Given the description of an element on the screen output the (x, y) to click on. 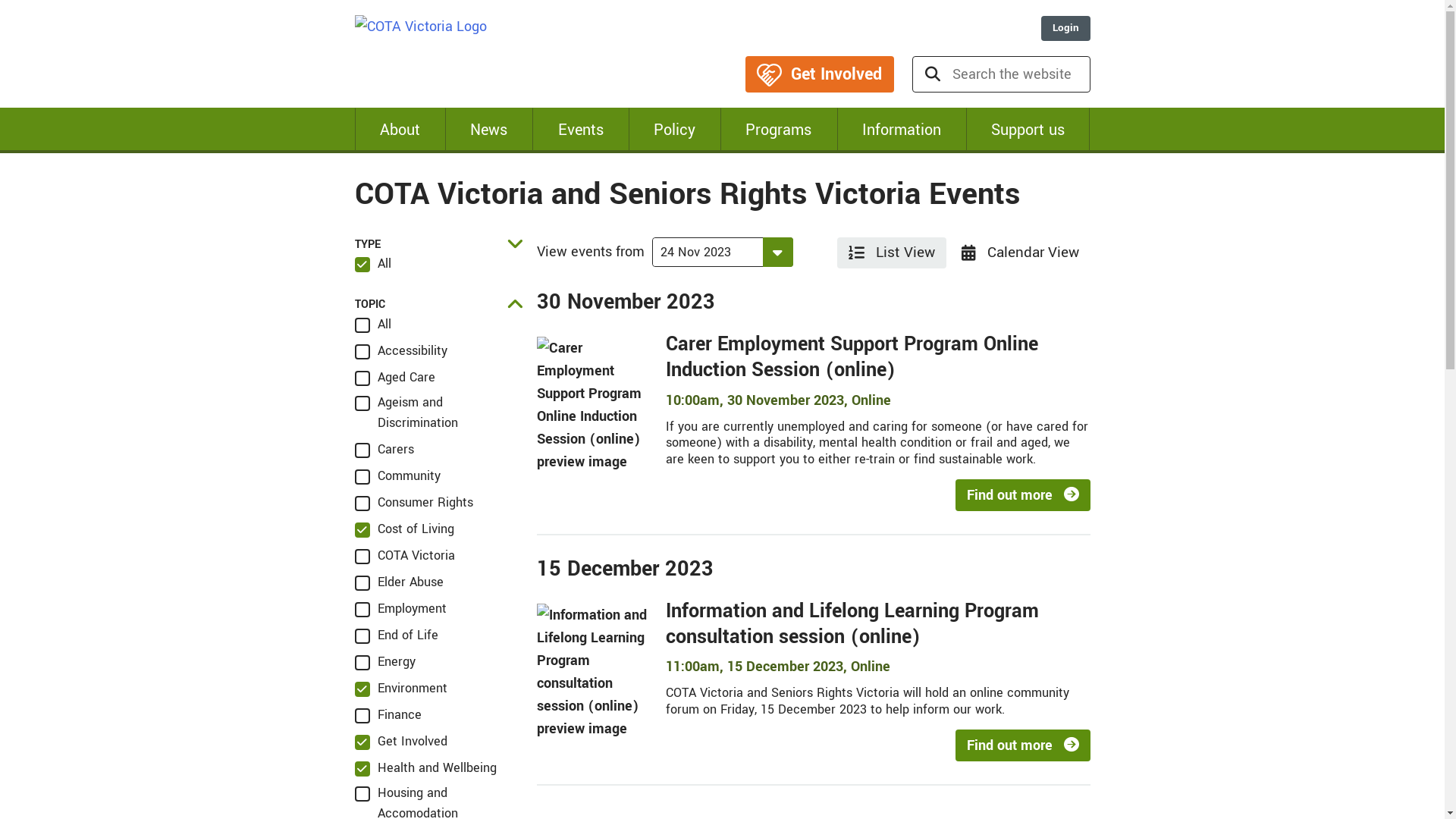
Find out more Element type: text (1022, 745)
Aged Care Element type: text (394, 377)
Environment Element type: text (400, 687)
Programs Element type: text (778, 130)
Cost of Living Element type: text (404, 528)
Elder Abuse Element type: text (398, 581)
COTA Victoria Element type: text (404, 555)
Health and Wellbeing Element type: text (425, 767)
Ageism and Discrimination Element type: text (437, 412)
About Element type: text (399, 130)
Carers Element type: text (384, 449)
TOPIC Element type: text (437, 304)
Policy Element type: text (674, 130)
Skip to content Element type: text (0, 0)
Select date Element type: hover (706, 252)
Information Element type: text (901, 130)
Events Element type: text (579, 130)
Accessibility Element type: text (400, 350)
End of Life Element type: text (396, 634)
Consumer Rights Element type: text (413, 502)
COTA Victoria Element type: hover (420, 26)
News Element type: text (488, 130)
All Element type: text (372, 263)
All Element type: text (372, 323)
Support us Element type: text (1027, 130)
Finance Element type: text (387, 714)
Community Element type: text (397, 475)
Calendar View Element type: text (1020, 252)
Find out more Element type: text (1022, 495)
Employment Element type: text (400, 608)
List View Element type: text (892, 252)
Login Element type: text (1064, 27)
Search the website Element type: hover (1020, 74)
Energy Element type: text (384, 661)
TYPE Element type: text (437, 244)
Perform search Element type: hover (931, 74)
Get Involved Element type: text (818, 74)
Get Involved Element type: text (400, 741)
